Given the description of an element on the screen output the (x, y) to click on. 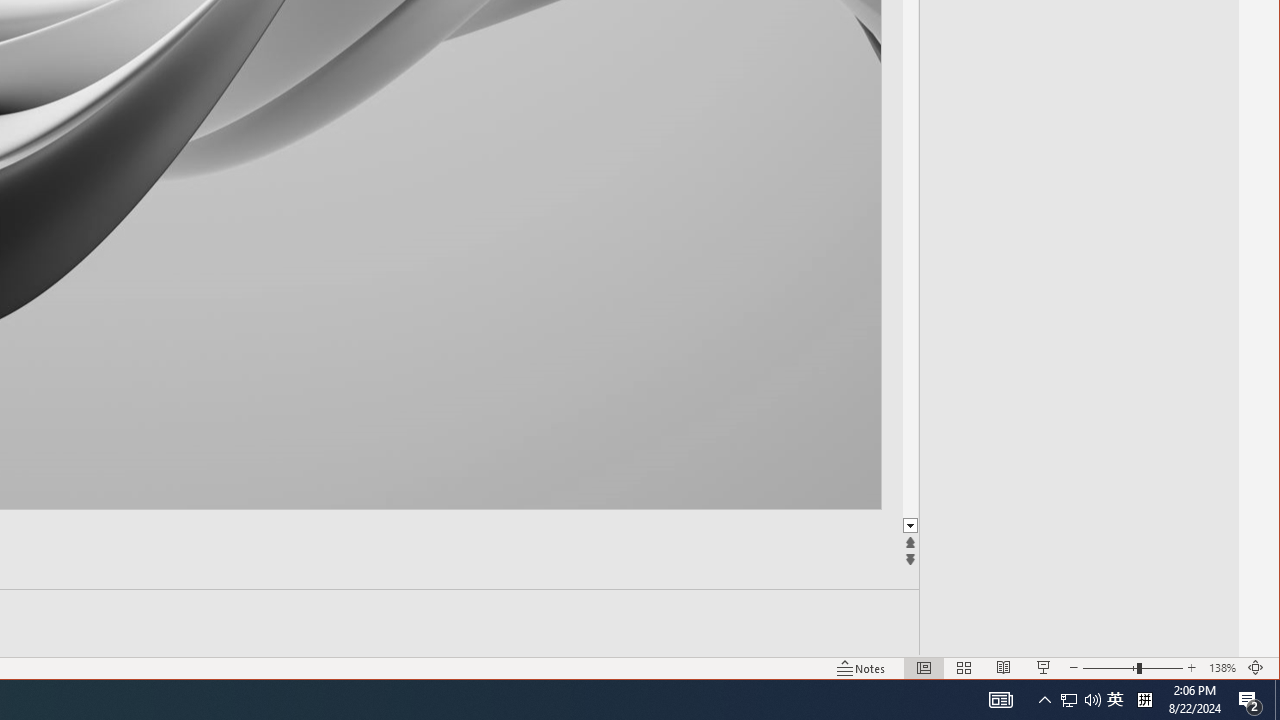
Zoom 138% (1222, 668)
